Given the description of an element on the screen output the (x, y) to click on. 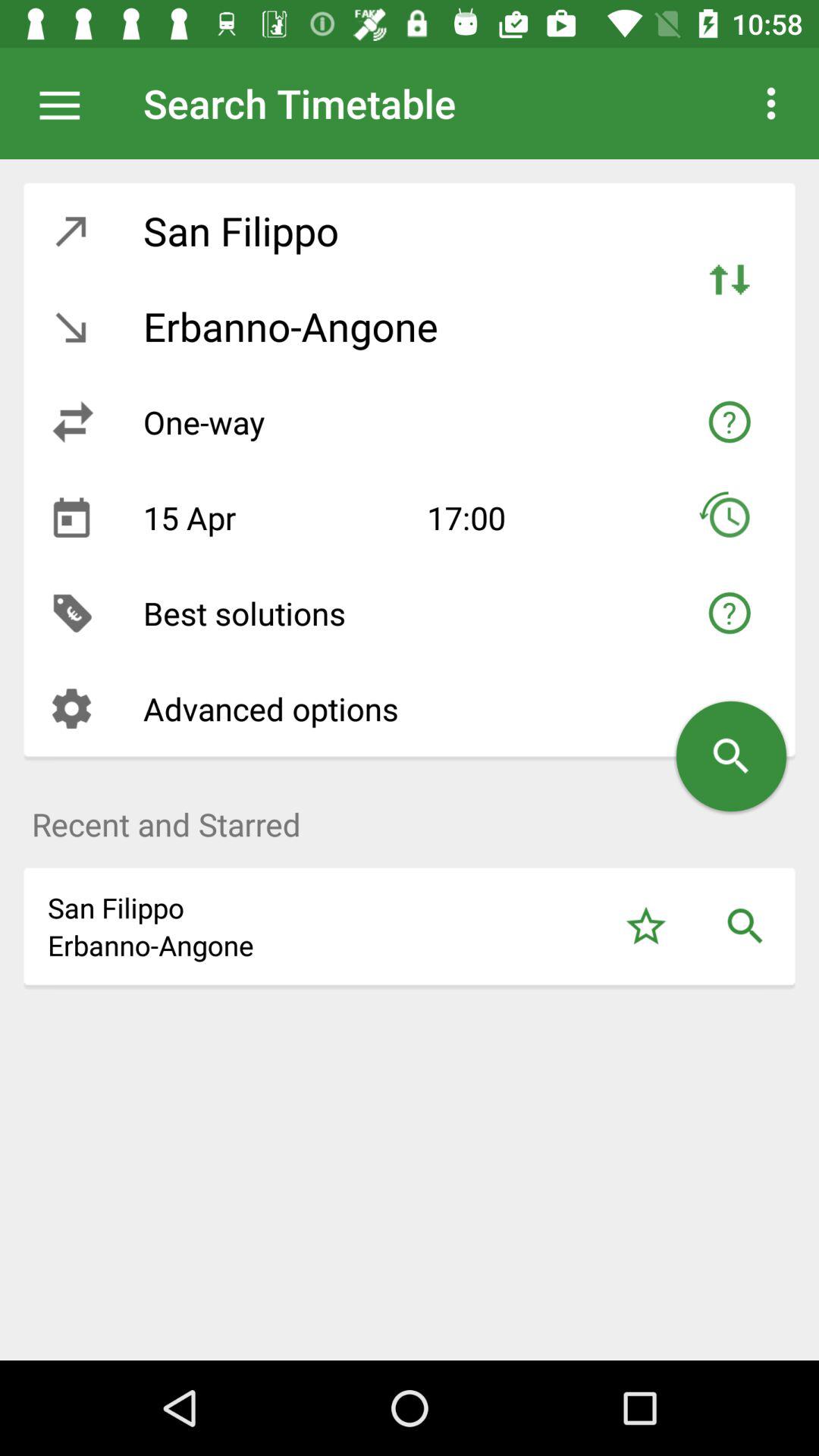
launch the icon to the right of the 17:00 (729, 517)
